Given the description of an element on the screen output the (x, y) to click on. 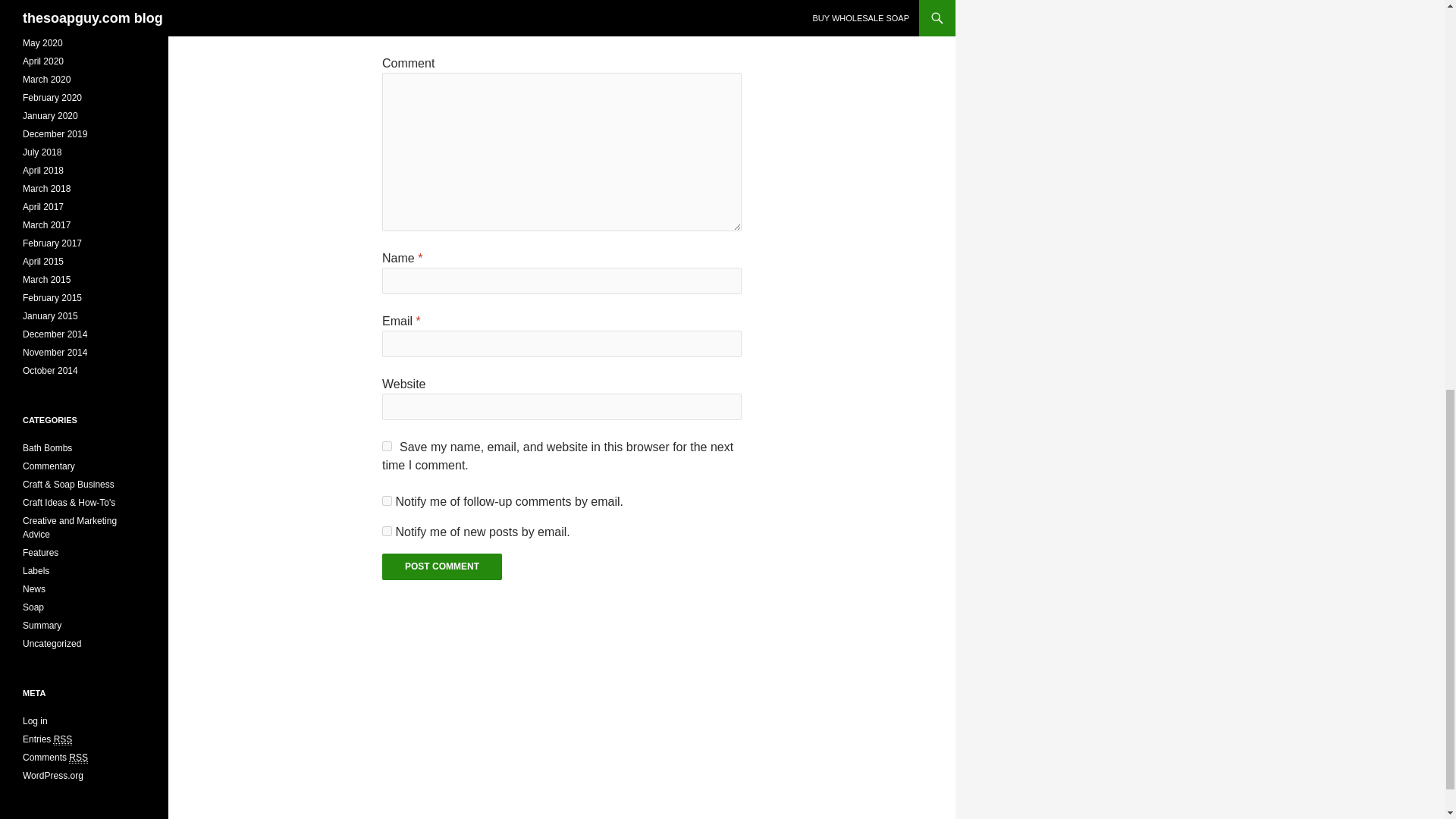
Post Comment (441, 566)
June 2020 (44, 24)
Really Simple Syndication (77, 757)
yes (386, 446)
Really Simple Syndication (62, 739)
July 2020 (42, 6)
subscribe (386, 501)
subscribe (386, 531)
Post Comment (441, 566)
